Given the description of an element on the screen output the (x, y) to click on. 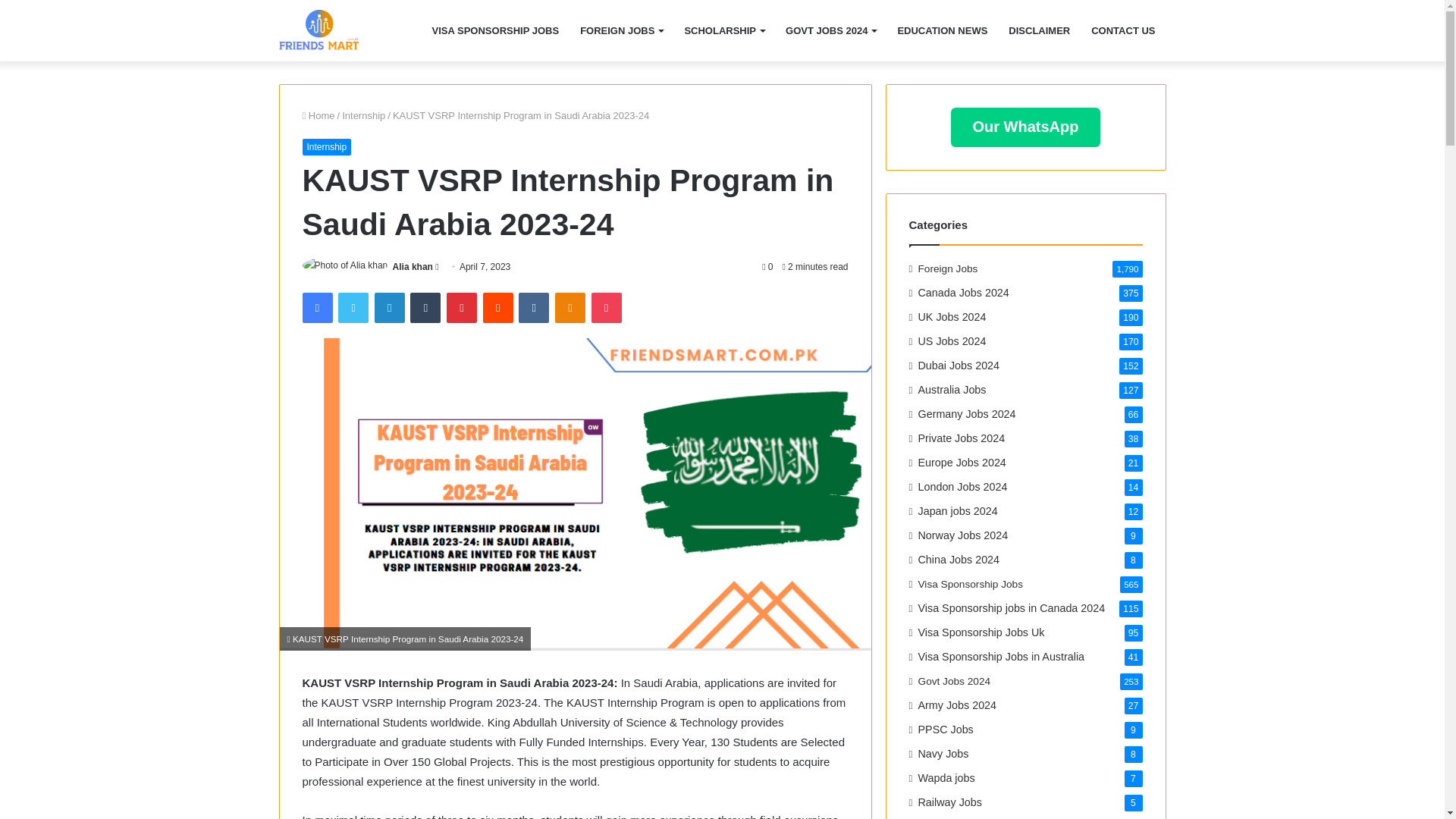
Facebook (316, 307)
Pocket (606, 307)
VISA SPONSORSHIP JOBS (496, 30)
Alia khan (412, 266)
VKontakte (533, 307)
Visa Sponsorship Jobs (318, 30)
SCHOLARSHIP (723, 30)
Home (317, 115)
CONTACT US (1123, 30)
FOREIGN JOBS (620, 30)
EDUCATION NEWS (941, 30)
Reddit (498, 307)
Odnoklassniki (569, 307)
Internship (363, 115)
Pinterest (461, 307)
